Given the description of an element on the screen output the (x, y) to click on. 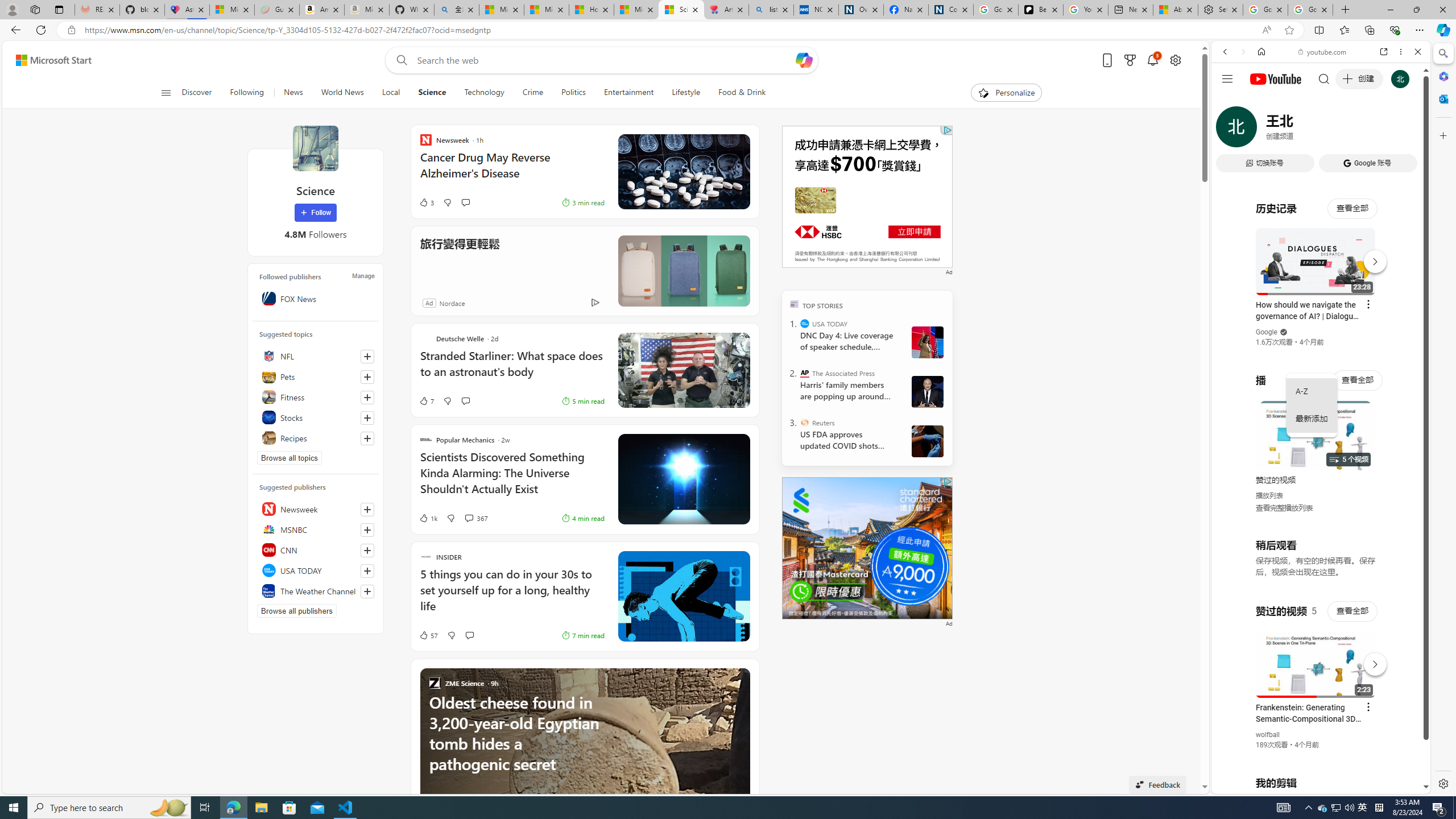
Personalize (1006, 92)
Skip to footer (46, 59)
Science (314, 148)
This site scope (1259, 102)
Click to scroll right (1407, 456)
list of asthma inhalers uk - Search (770, 9)
